Given the description of an element on the screen output the (x, y) to click on. 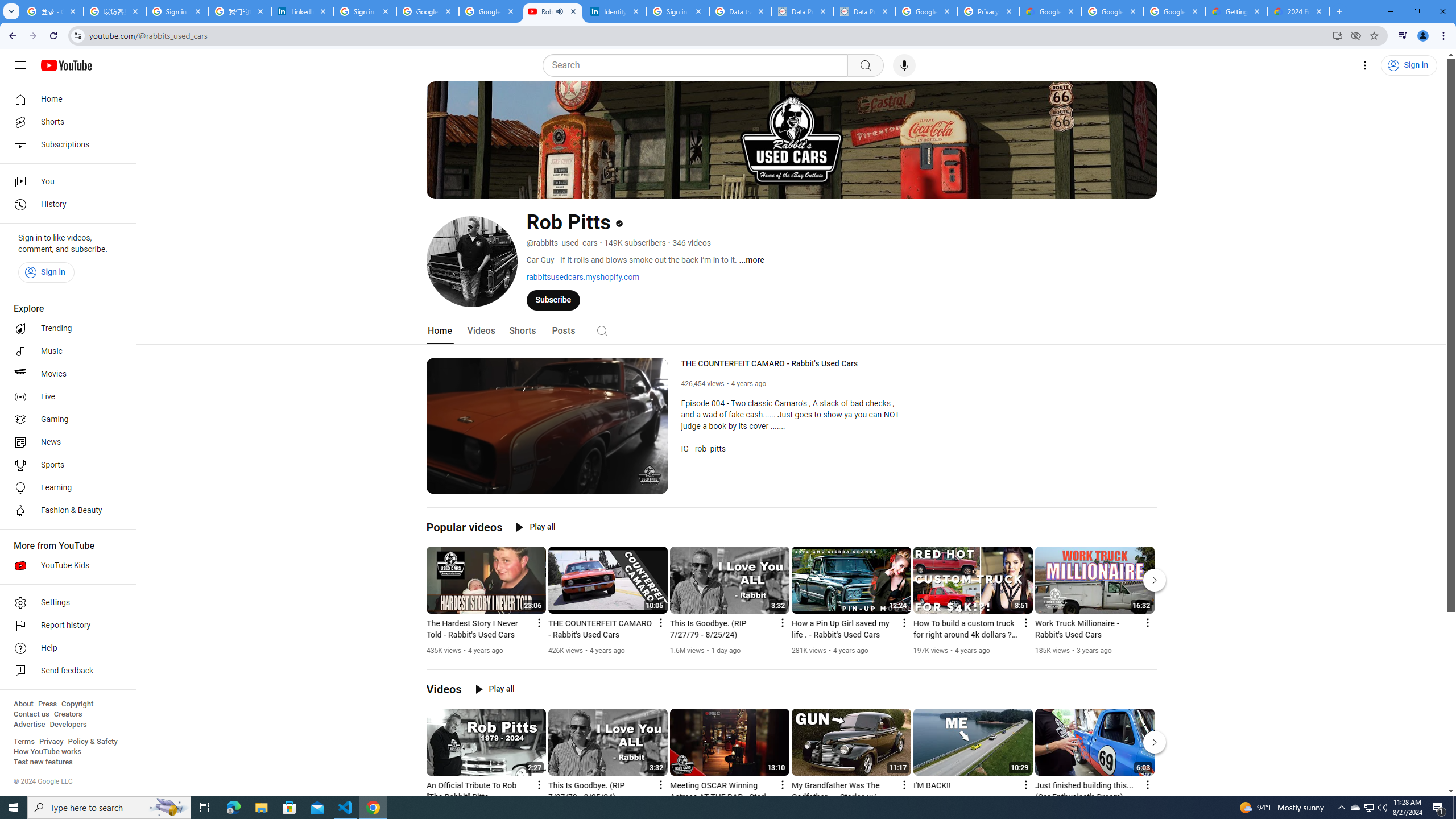
Guide (20, 65)
Rob Pitts - YouTube - Audio playing (552, 11)
Gaming (64, 419)
History (64, 204)
THE COUNTERFEIT CAMARO - Rabbit's Used Cars (795, 363)
Terms (23, 741)
Play all (494, 688)
Third-party cookies blocked (1355, 35)
Developers (68, 724)
